Given the description of an element on the screen output the (x, y) to click on. 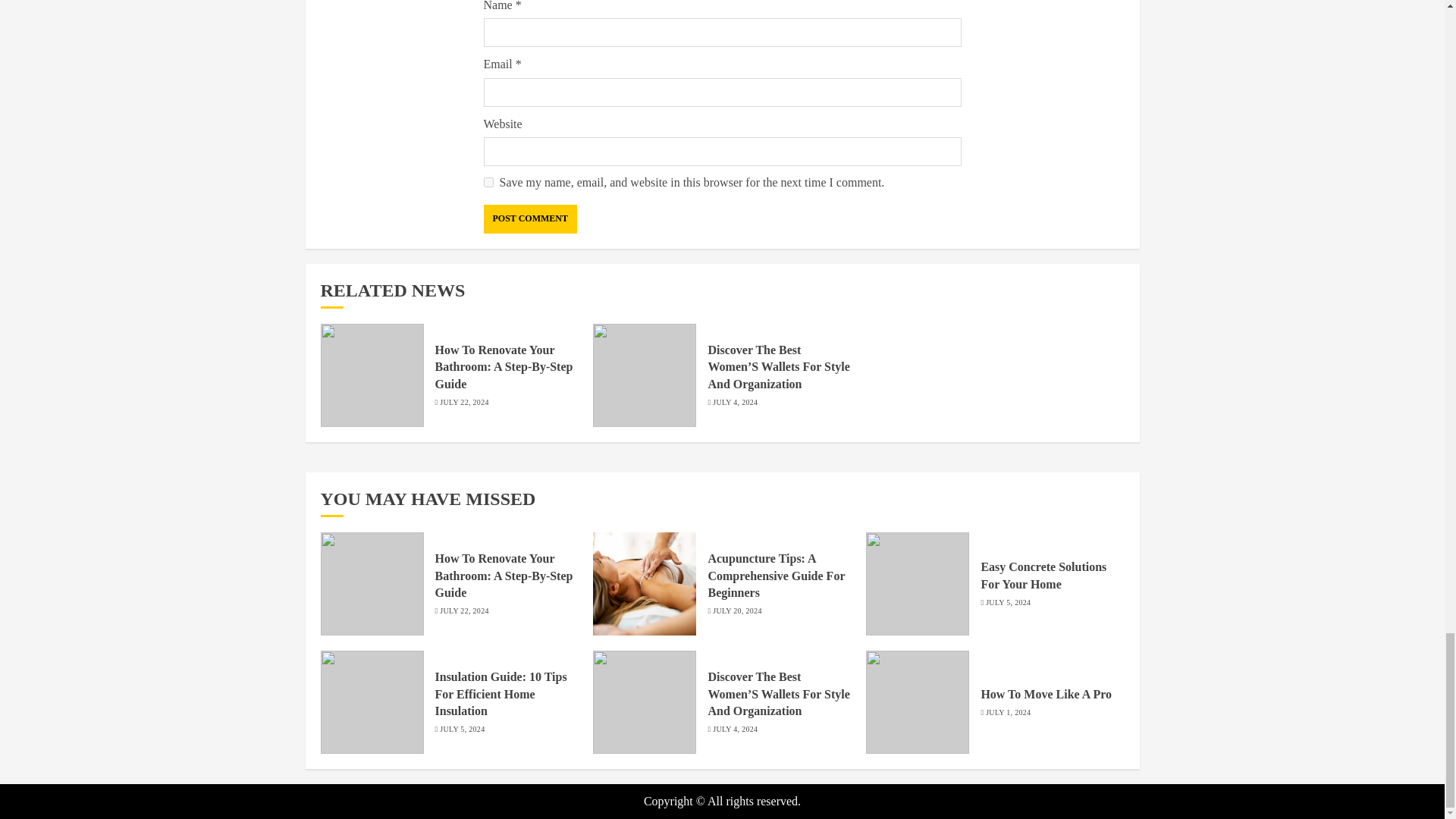
JULY 5, 2024 (1007, 602)
JULY 4, 2024 (735, 402)
yes (488, 182)
JULY 22, 2024 (463, 611)
How To Renovate Your Bathroom: A Step-By-Step Guide (504, 367)
JULY 20, 2024 (737, 611)
Insulation Guide: 10 Tips For Efficient Home Insulation (501, 694)
Post Comment (529, 218)
Easy Concrete Solutions For Your Home (1042, 575)
JULY 22, 2024 (463, 402)
Acupuncture Tips: A Comprehensive Guide For Beginners (775, 575)
Post Comment (529, 218)
How To Renovate Your Bathroom: A Step-By-Step Guide (504, 575)
